Given the description of an element on the screen output the (x, y) to click on. 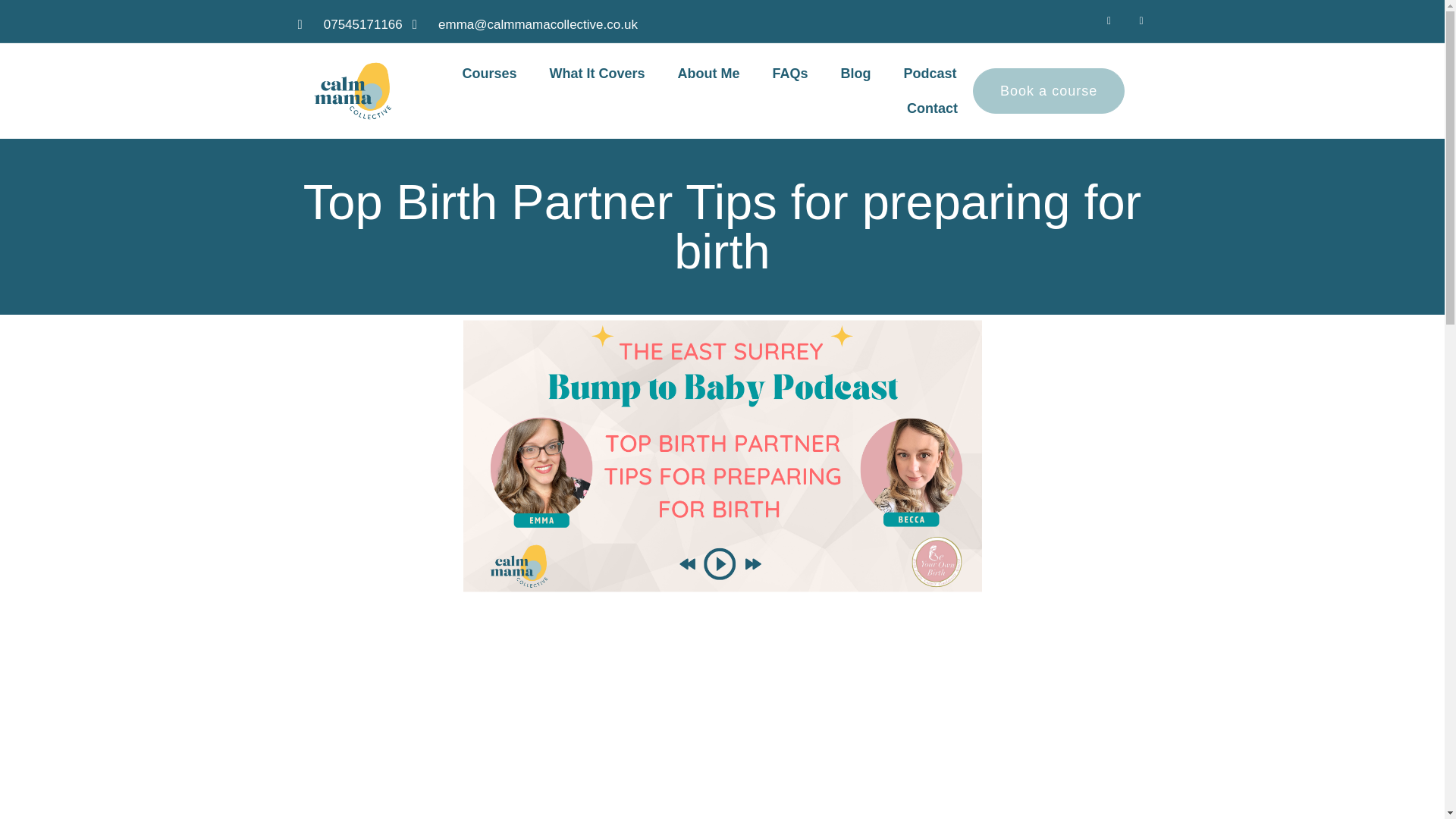
FAQs (790, 73)
What It Covers (597, 73)
About Me (708, 73)
07545171166 (349, 25)
Courses (489, 73)
Contact (931, 108)
Podcast (930, 73)
Book a course (1048, 90)
Blog (855, 73)
